Given the description of an element on the screen output the (x, y) to click on. 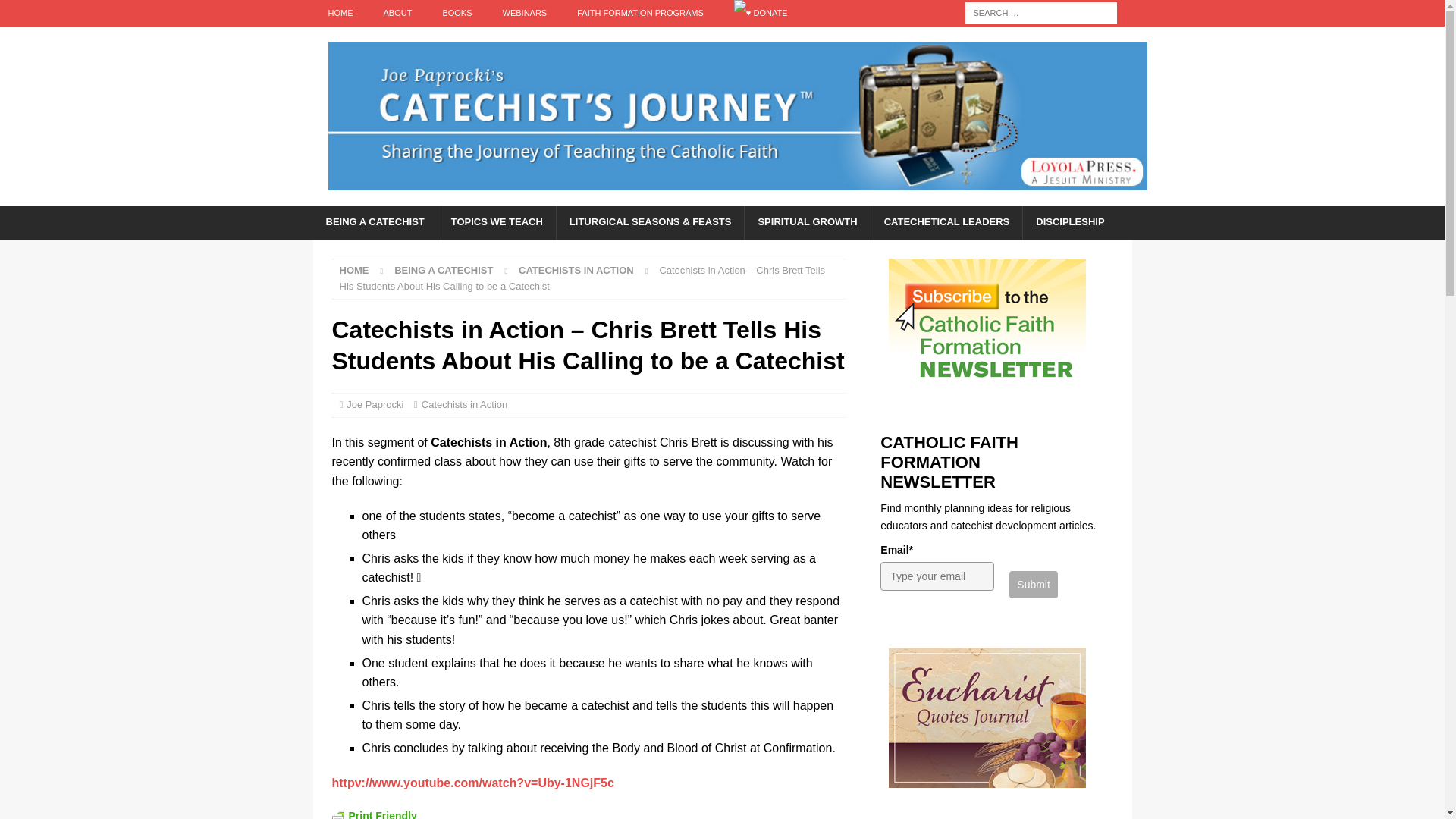
Home (354, 270)
HOME (340, 13)
WEBINARS (524, 13)
BOOKS (456, 13)
Catechists in Action (575, 270)
ABOUT (398, 13)
Catechist's Journey (737, 196)
Search (56, 11)
FAITH FORMATION PROGRAMS (640, 13)
